Given the description of an element on the screen output the (x, y) to click on. 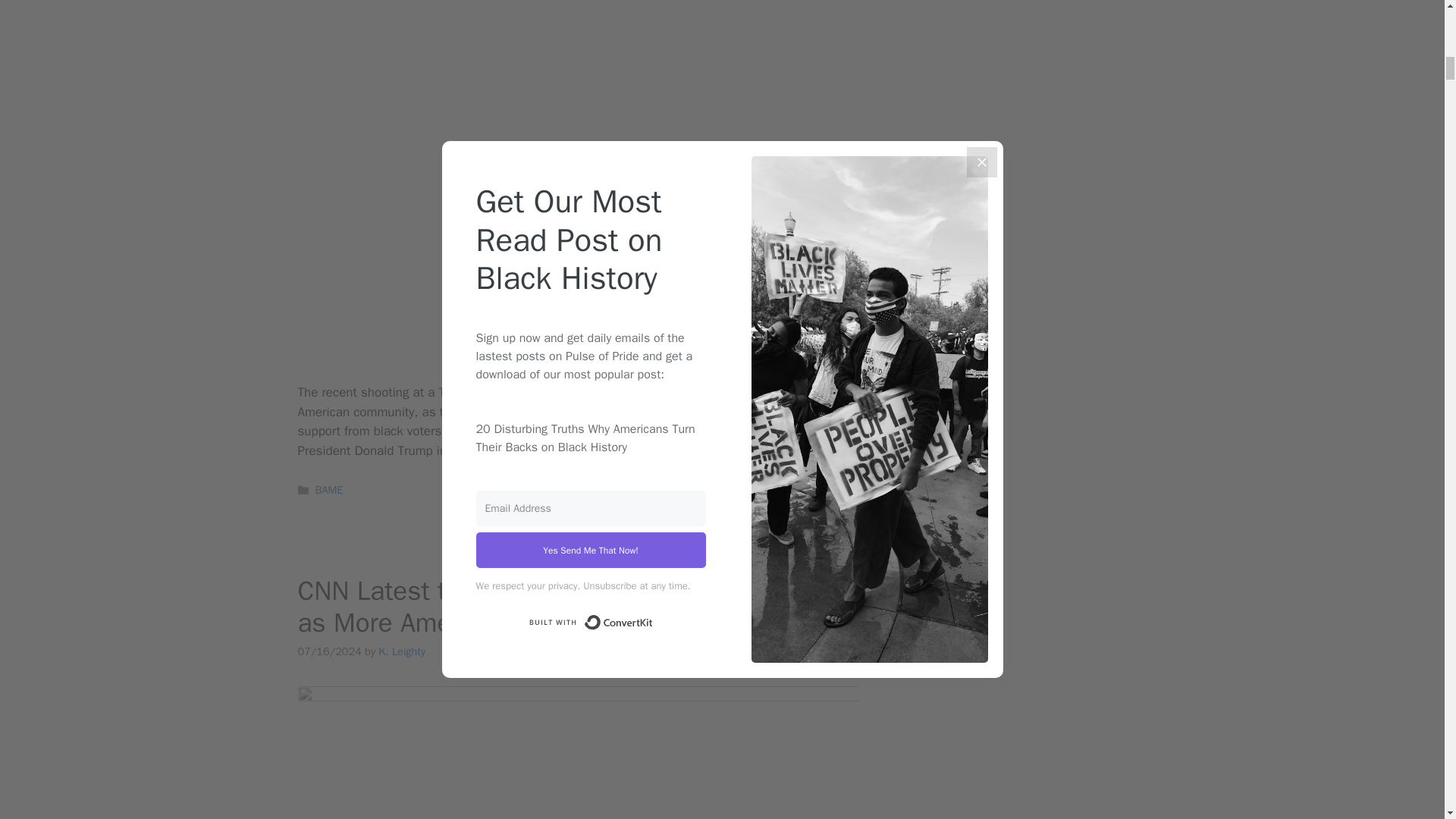
View all posts by K. Leighty (401, 651)
